Given the description of an element on the screen output the (x, y) to click on. 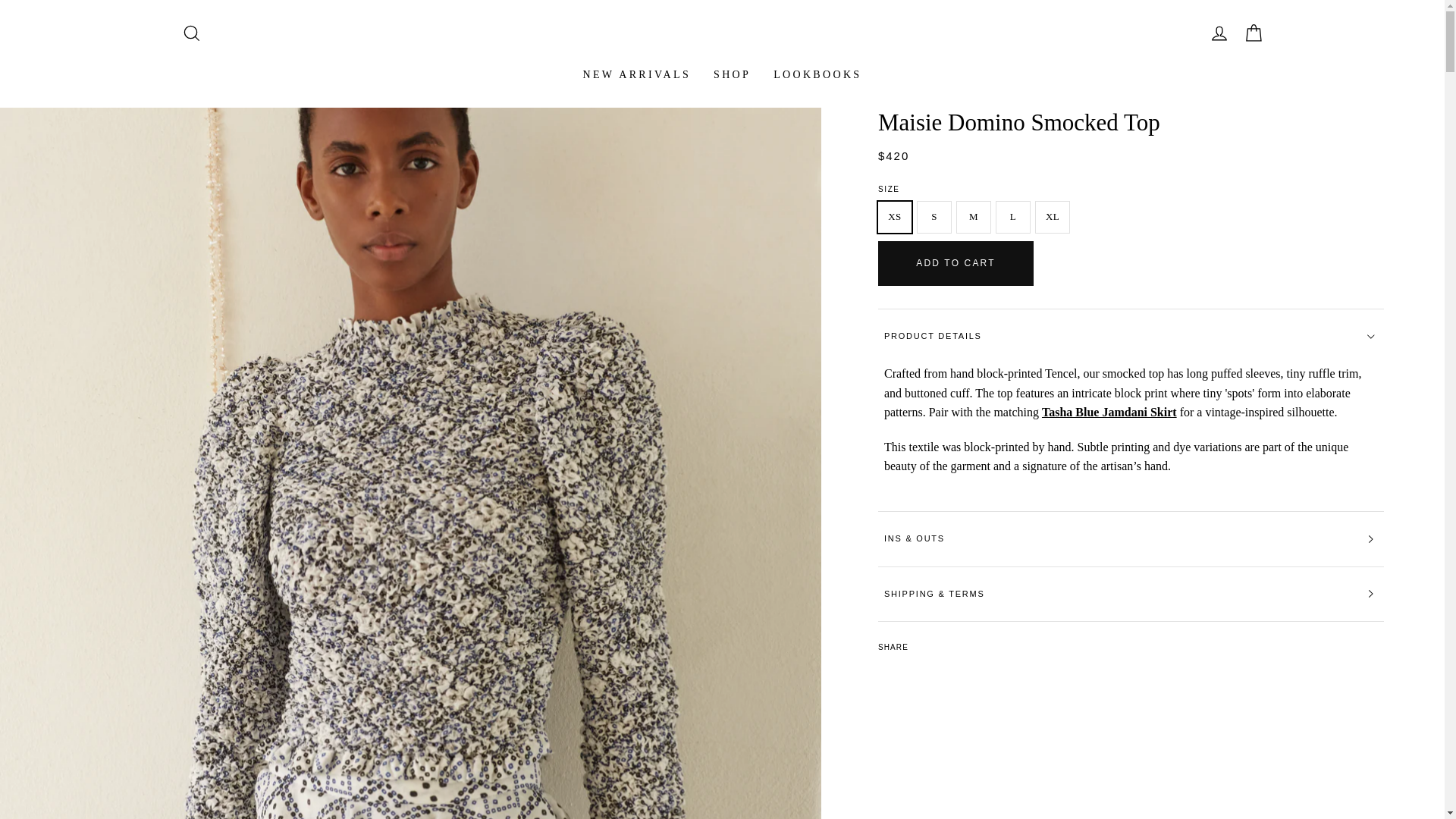
icon-search (191, 33)
account (1219, 33)
